Given the description of an element on the screen output the (x, y) to click on. 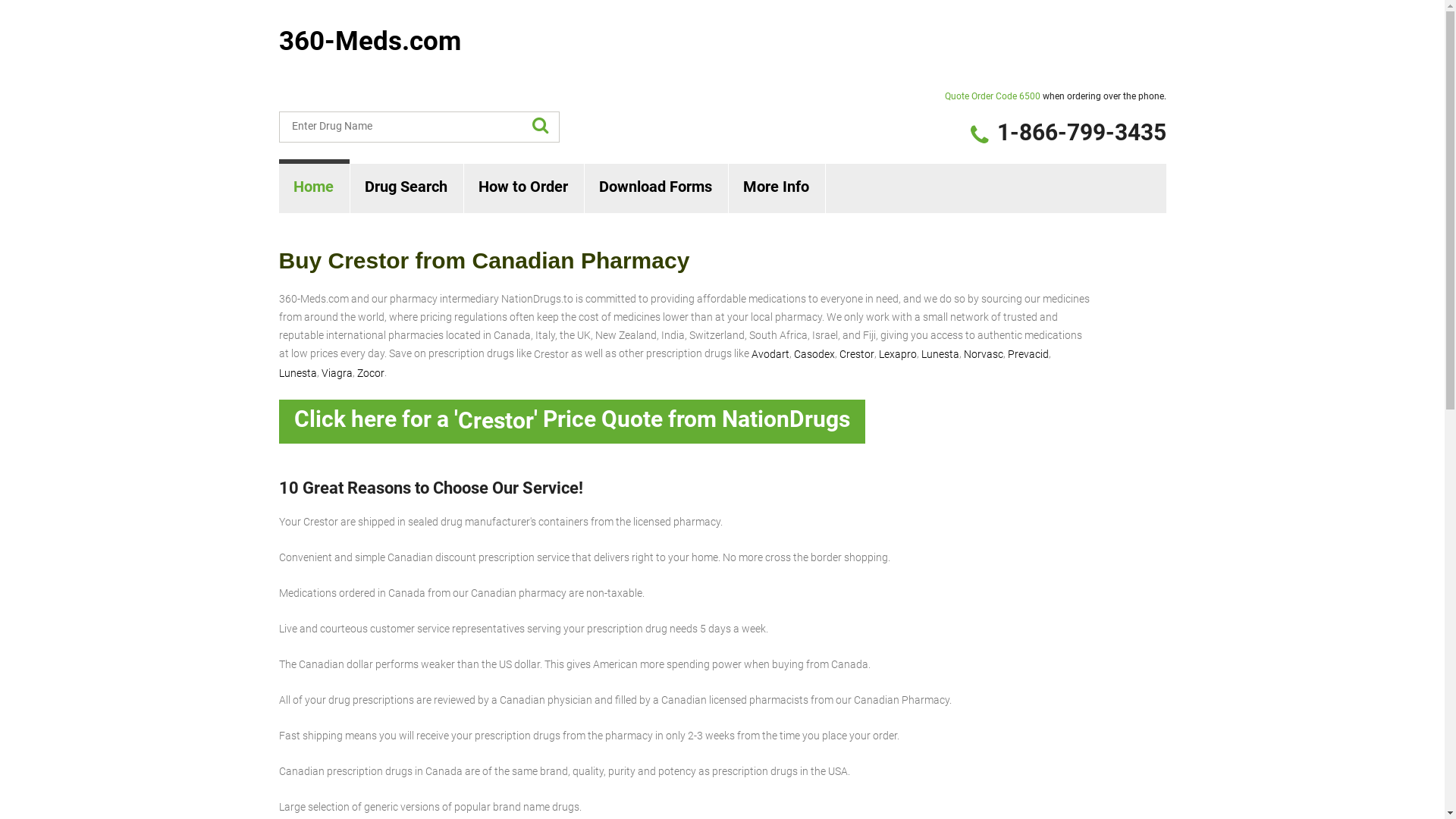
Drug Search Element type: text (406, 188)
Home Element type: text (314, 188)
Lunesta Element type: text (939, 354)
Click here for a 'Crestor' Price Quote from NationDrugs Element type: text (572, 421)
Zocor Element type: text (369, 373)
Avodart Element type: text (769, 354)
Prevacid Element type: text (1027, 354)
How to Order Element type: text (523, 188)
Lunesta Element type: text (297, 373)
Lexapro Element type: text (897, 354)
Viagra Element type: text (336, 373)
360-Meds.com Element type: text (370, 40)
Crestor Element type: text (855, 354)
Download Forms Element type: text (655, 188)
More Info Element type: text (776, 188)
Casodex Element type: text (813, 354)
Norvasc Element type: text (982, 354)
